Given the description of an element on the screen output the (x, y) to click on. 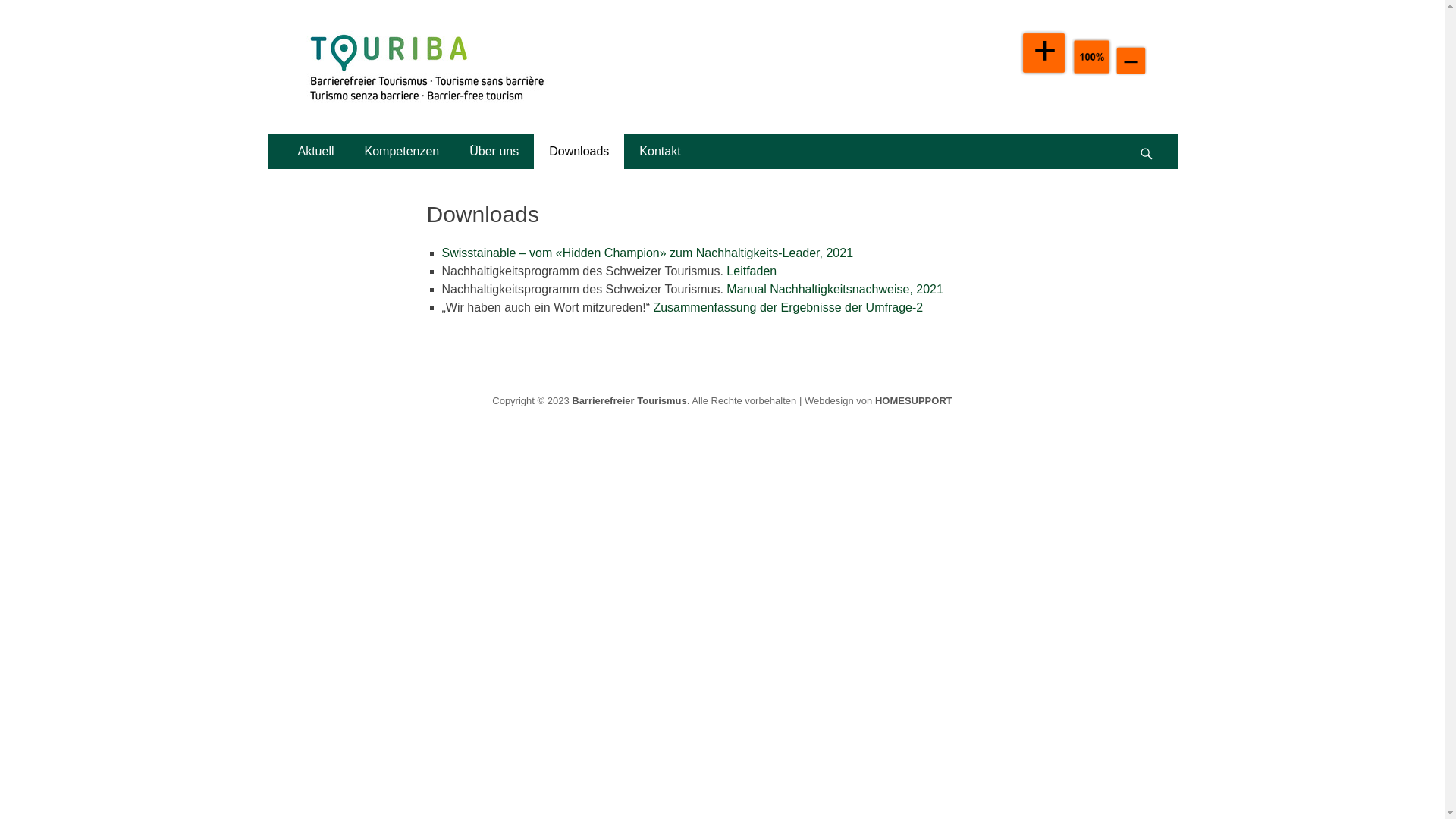
Leitfaden Element type: text (751, 270)
Barrierefreier Tourismus Element type: text (465, 48)
Zusammenfassung der Ergebnisse der Umfrage-2 Element type: text (787, 307)
Downloads Element type: text (578, 151)
Kompetenzen Element type: text (402, 151)
Aktuell Element type: text (315, 151)
Barrierefreier Tourismus Element type: text (629, 400)
Manual Nachhaltigkeitsnachweise, 2021 Element type: text (834, 288)
HOMESUPPORT Element type: text (913, 400)
Kontakt Element type: text (659, 151)
